Given the description of an element on the screen output the (x, y) to click on. 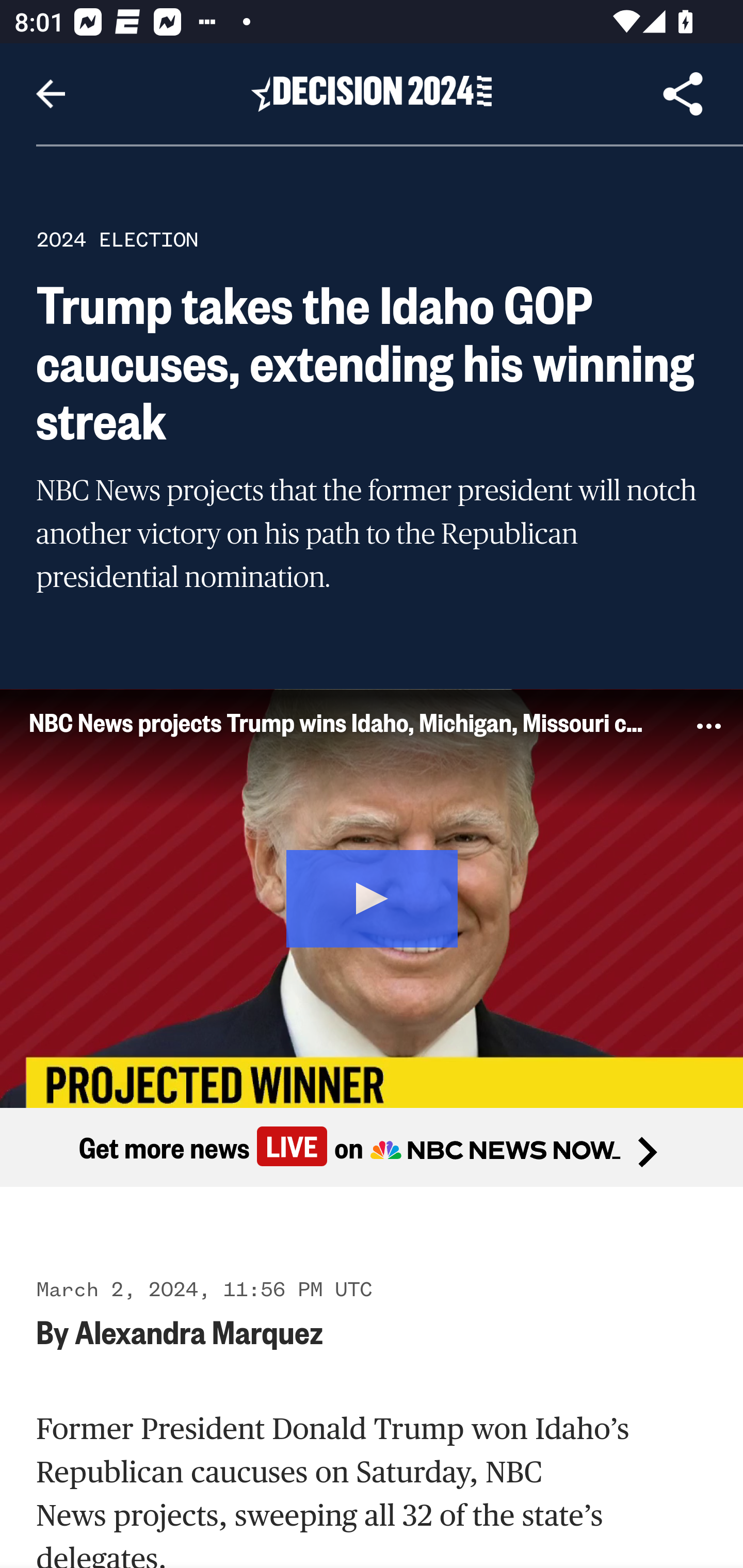
Navigate up (50, 93)
Share Article, button (683, 94)
Header, Decision 2024 (371, 93)
2024 ELECTION (117, 239)
Video Player Unable to play media. Play   (371, 897)
Play (372, 896)
Get more news Live on Get more news Live on (371, 1147)
